Given the description of an element on the screen output the (x, y) to click on. 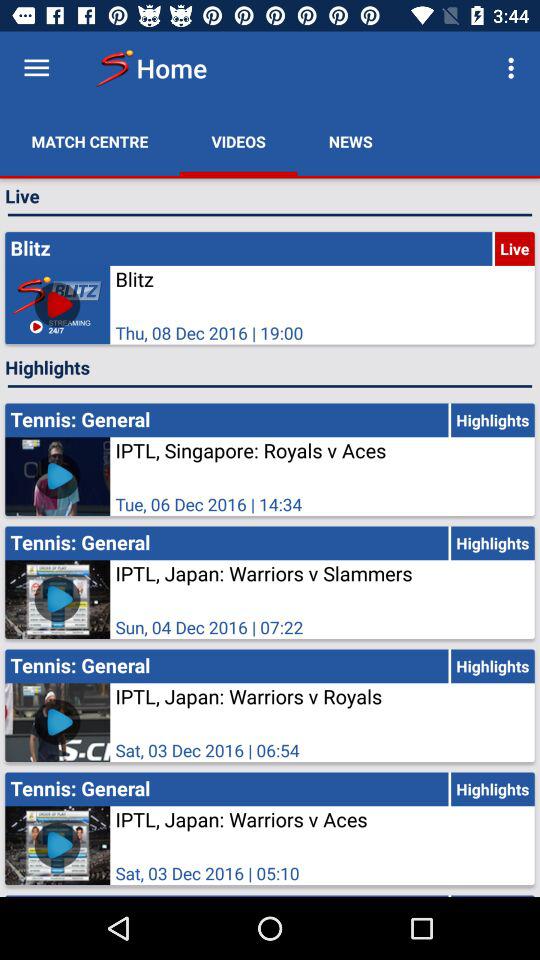
select the menu (36, 68)
